Given the description of an element on the screen output the (x, y) to click on. 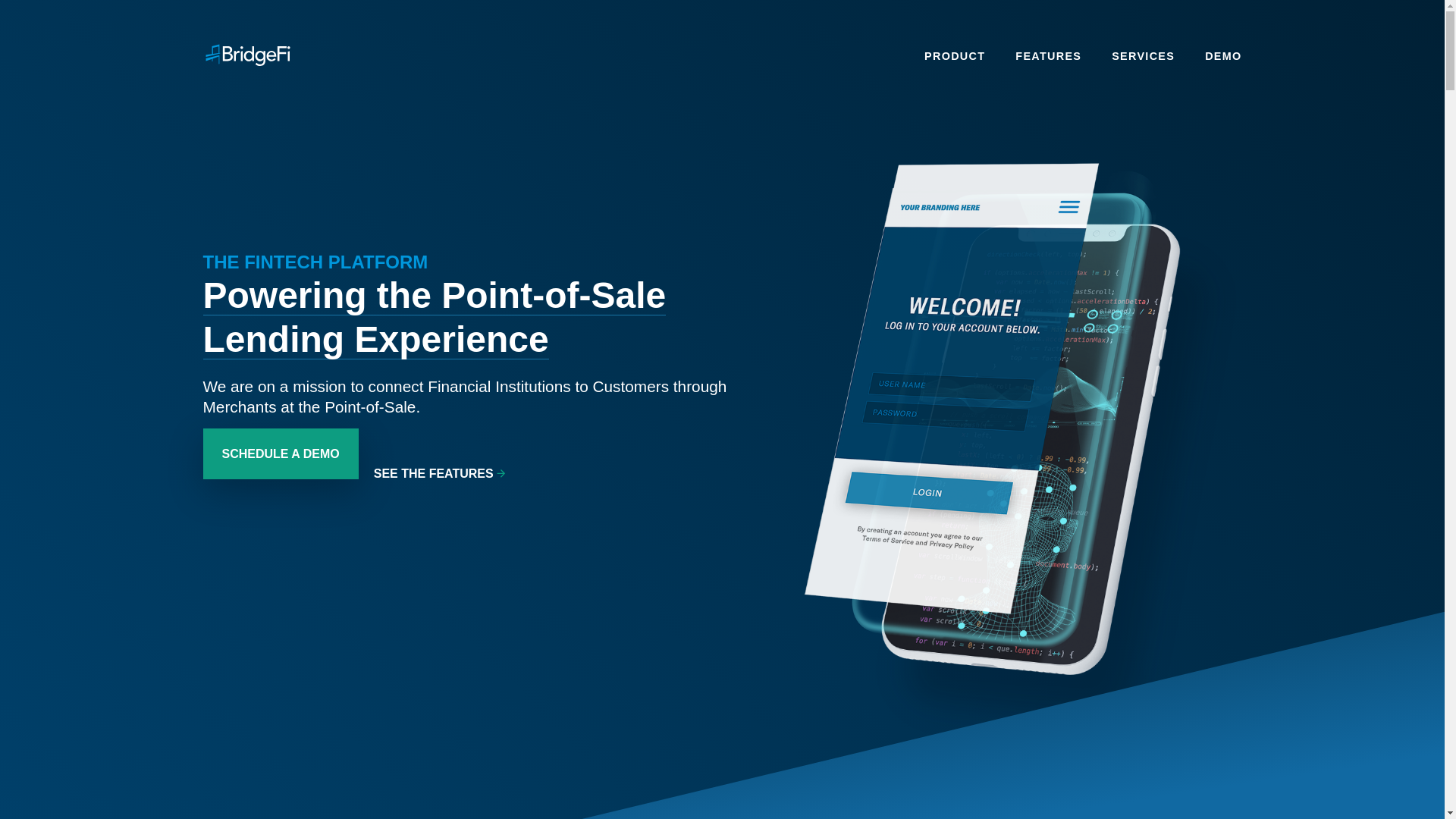
FEATURES (1047, 55)
FEATURES (1047, 55)
DEMO (1223, 55)
PRODUCT (954, 55)
PRODUCT (954, 55)
SCHEDULE A DEMO (280, 453)
SCHEDULE A DEMO (280, 509)
DEMO (1223, 55)
SEE THE FEATURES (441, 473)
SERVICES (1143, 55)
SERVICES (1143, 55)
SEE THE FEATURES (441, 528)
